Given the description of an element on the screen output the (x, y) to click on. 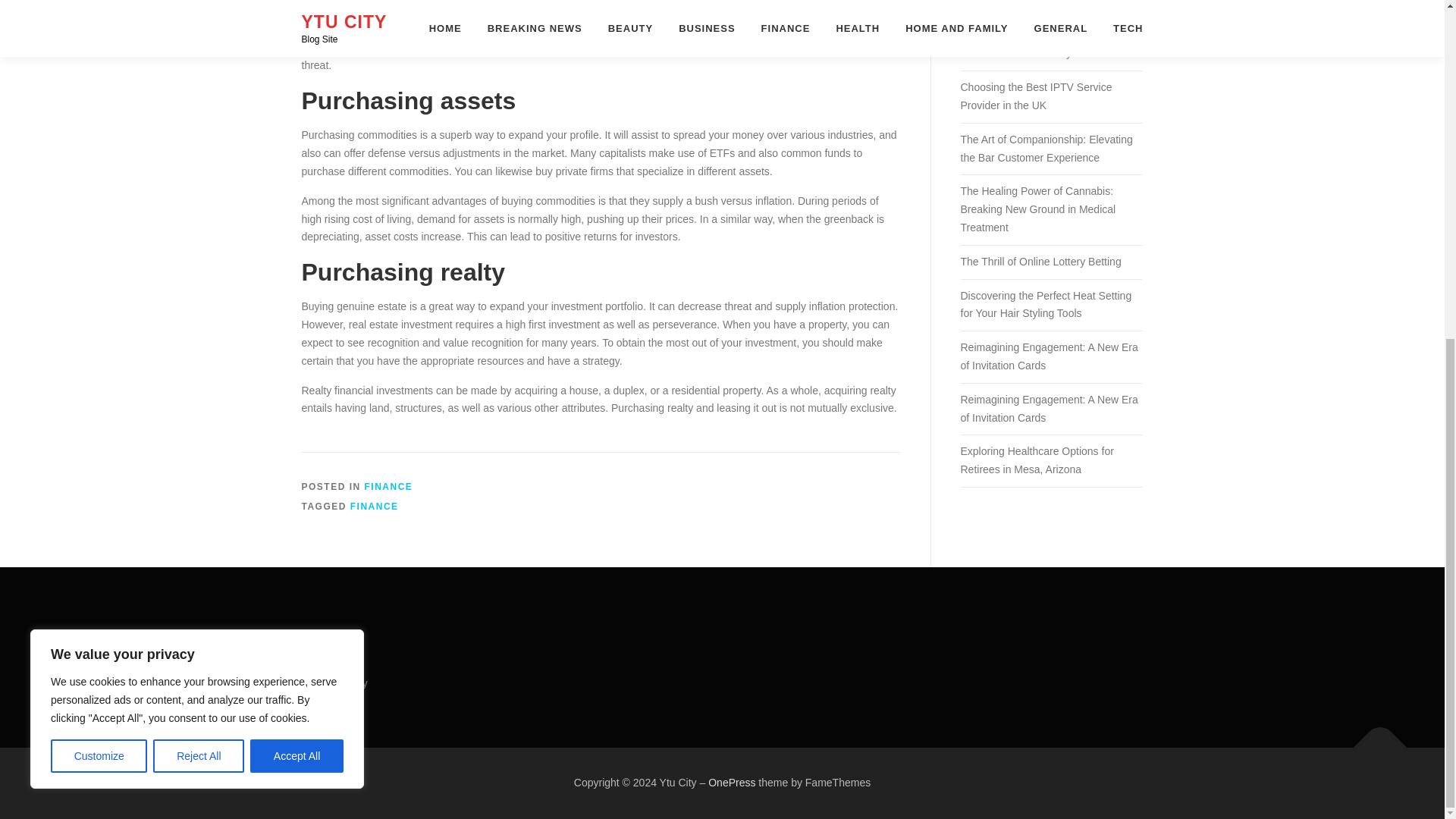
Accept All (296, 183)
Back To Top (1372, 740)
Reject All (198, 183)
FINANCE (389, 486)
Customize (98, 183)
FINANCE (374, 506)
